Given the description of an element on the screen output the (x, y) to click on. 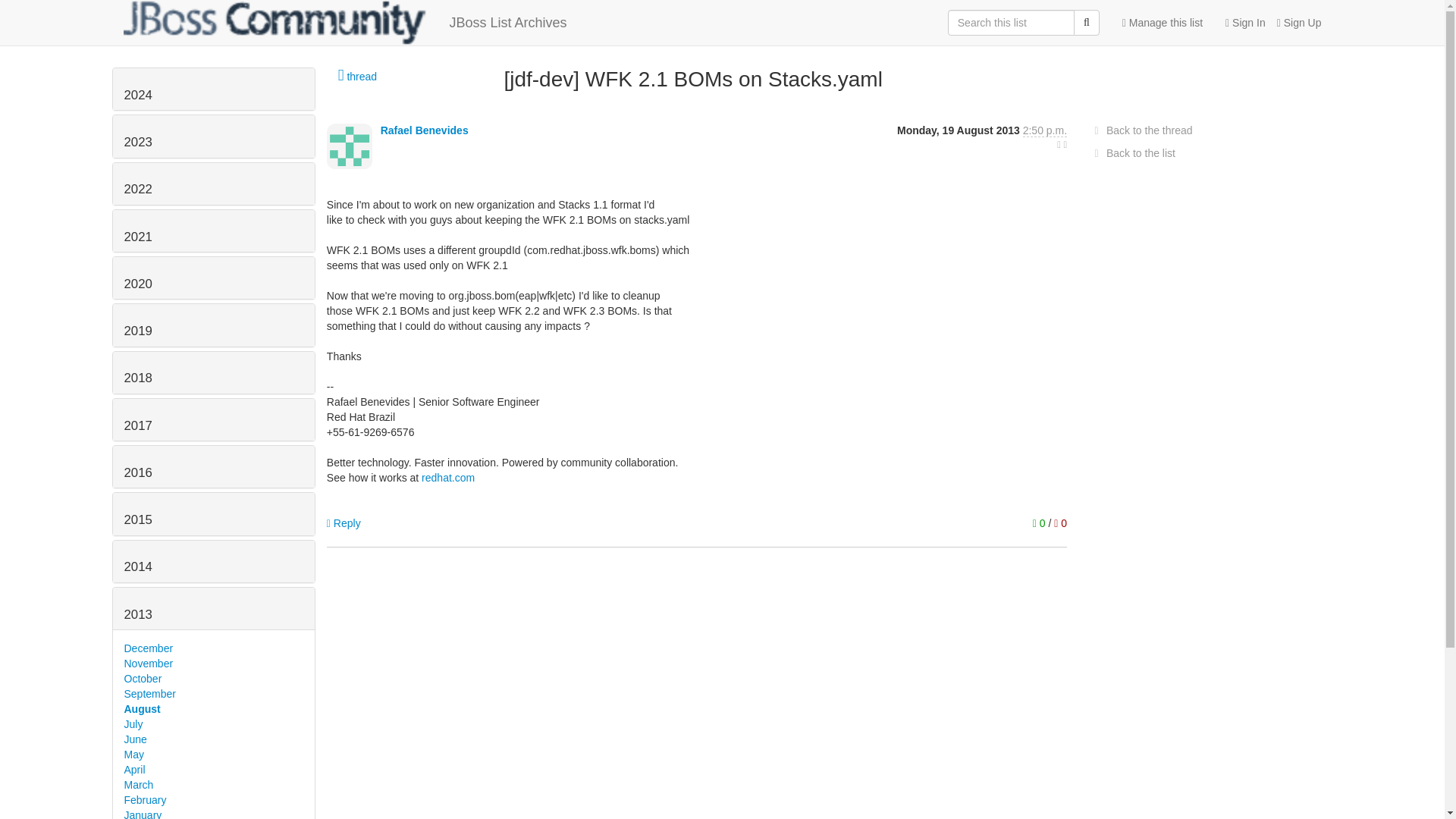
JBoss List Archives (345, 22)
You must be logged-in to vote. (1060, 522)
Sign In (1239, 22)
JBoss List Archives (345, 22)
You must be logged-in to vote. (1040, 522)
2024 (137, 94)
Manage this list (1162, 22)
Sender's time: Aug. 19, 2013, 4:50 p.m. (1045, 130)
2023 (137, 142)
Sign in to reply online (343, 522)
See the profile for Rafael Benevides (424, 130)
2022 (137, 188)
Sign Up (1293, 22)
